Given the description of an element on the screen output the (x, y) to click on. 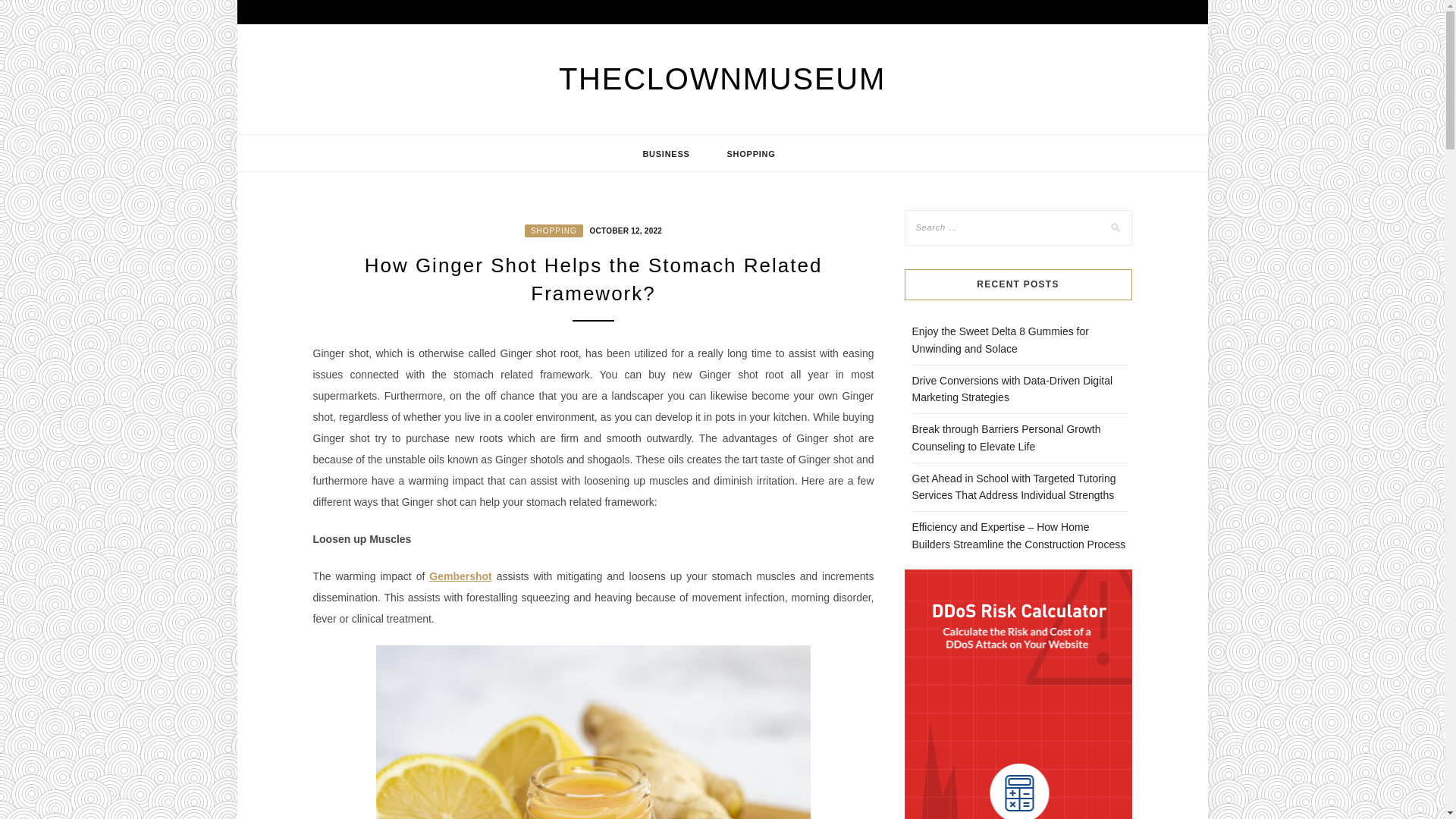
BUSINESS (666, 153)
Gembershot (460, 576)
SHOPPING (553, 230)
THECLOWNMUSEUM (722, 78)
Enjoy the Sweet Delta 8 Gummies for Unwinding and Solace (999, 339)
SHOPPING (750, 153)
OCTOBER 12, 2022 (624, 229)
